Given the description of an element on the screen output the (x, y) to click on. 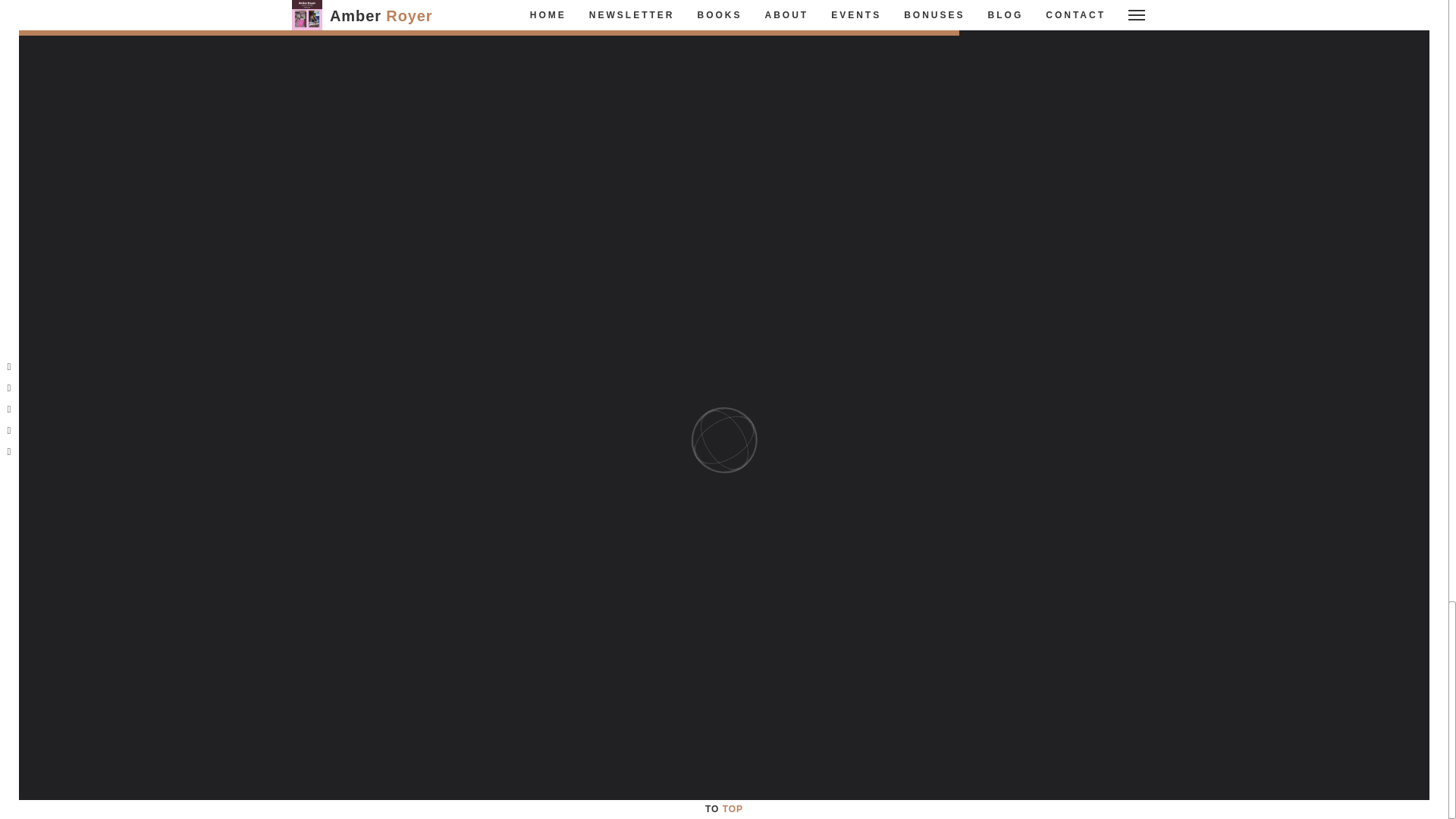
Thursday (1048, 164)
Monday (968, 164)
Friday (1074, 164)
Sunday (1128, 164)
Saturday (1101, 164)
Wednesday (1022, 164)
Tuesday (995, 164)
